Given the description of an element on the screen output the (x, y) to click on. 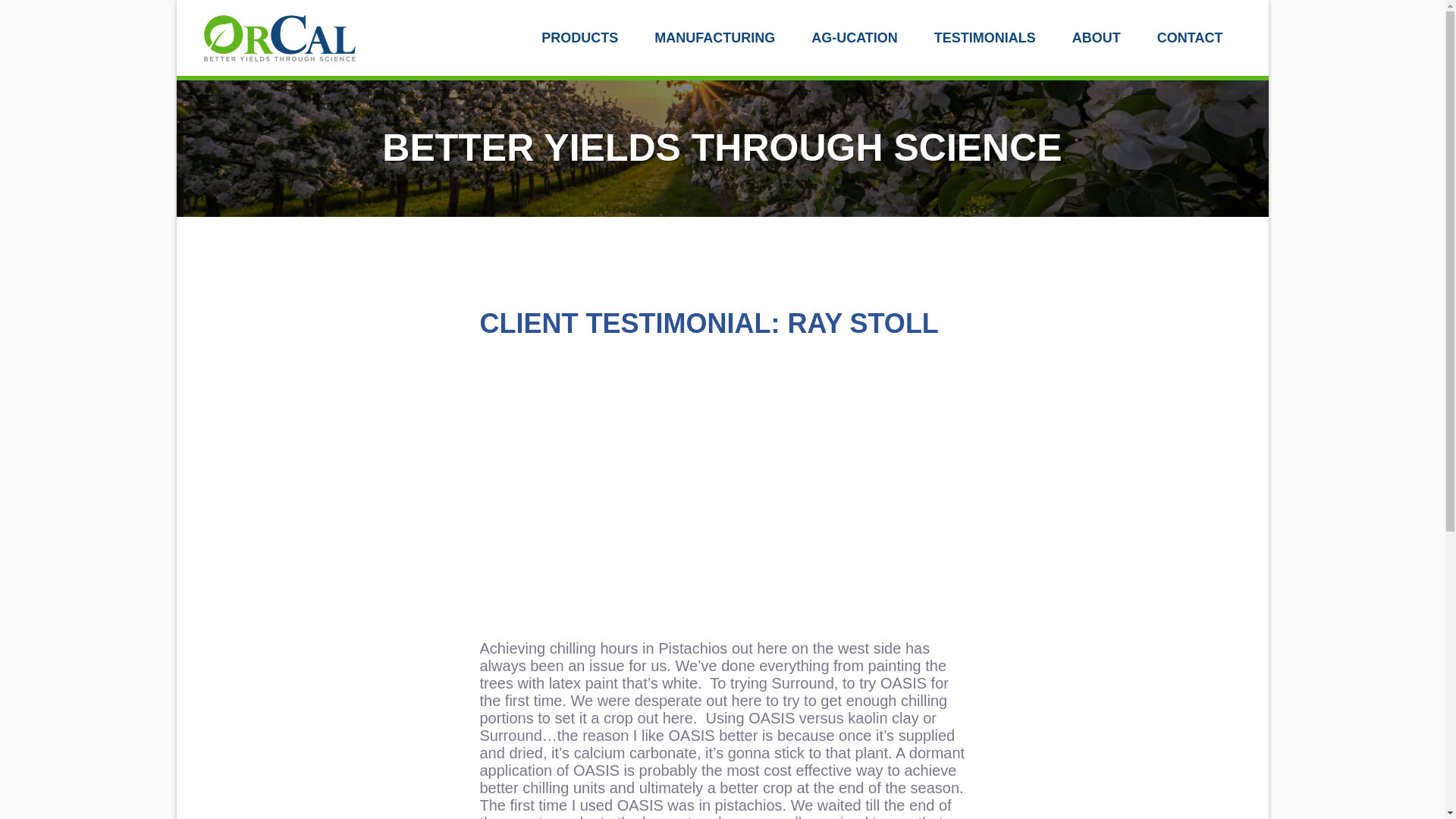
MANUFACTURING (714, 38)
PRODUCTS (579, 38)
CONTACT (1189, 38)
TESTIMONIALS (984, 38)
ABOUT (1096, 38)
OASIS for Chilling Pistachios (721, 502)
AG-UCATION (854, 38)
